Given the description of an element on the screen output the (x, y) to click on. 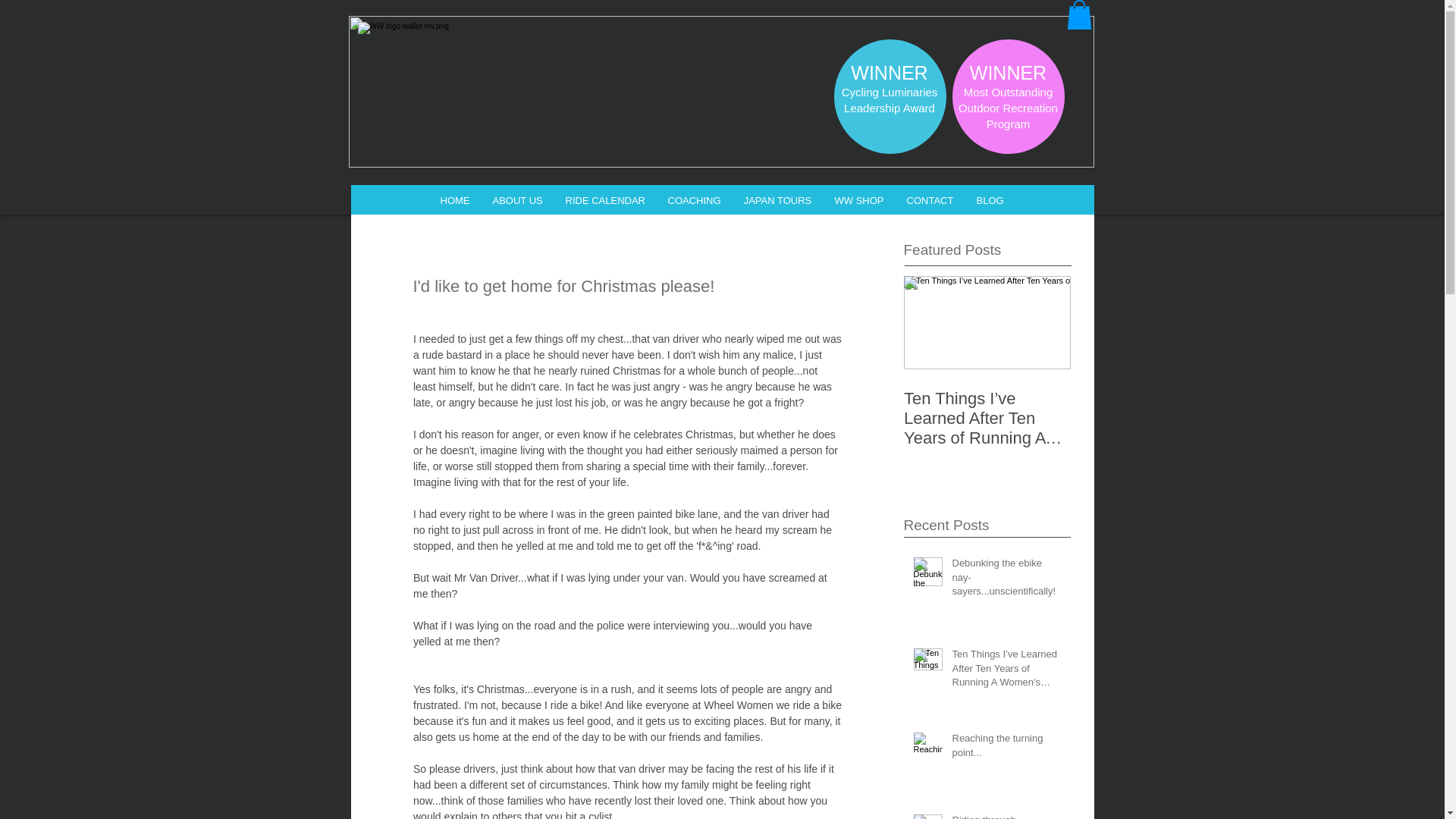
CONTACT (929, 200)
Debunking the ebike nay-sayers...unscientifically! (1006, 580)
Riding through challenge...it's the small things. (1006, 816)
Reaching the turning point... (1006, 748)
COACHING (694, 200)
ABOUT US (516, 200)
JAPAN TOURS (778, 200)
RIDE CALENDAR (604, 200)
HOME (455, 200)
BLOG (988, 200)
WW SHOP (859, 200)
